Given the description of an element on the screen output the (x, y) to click on. 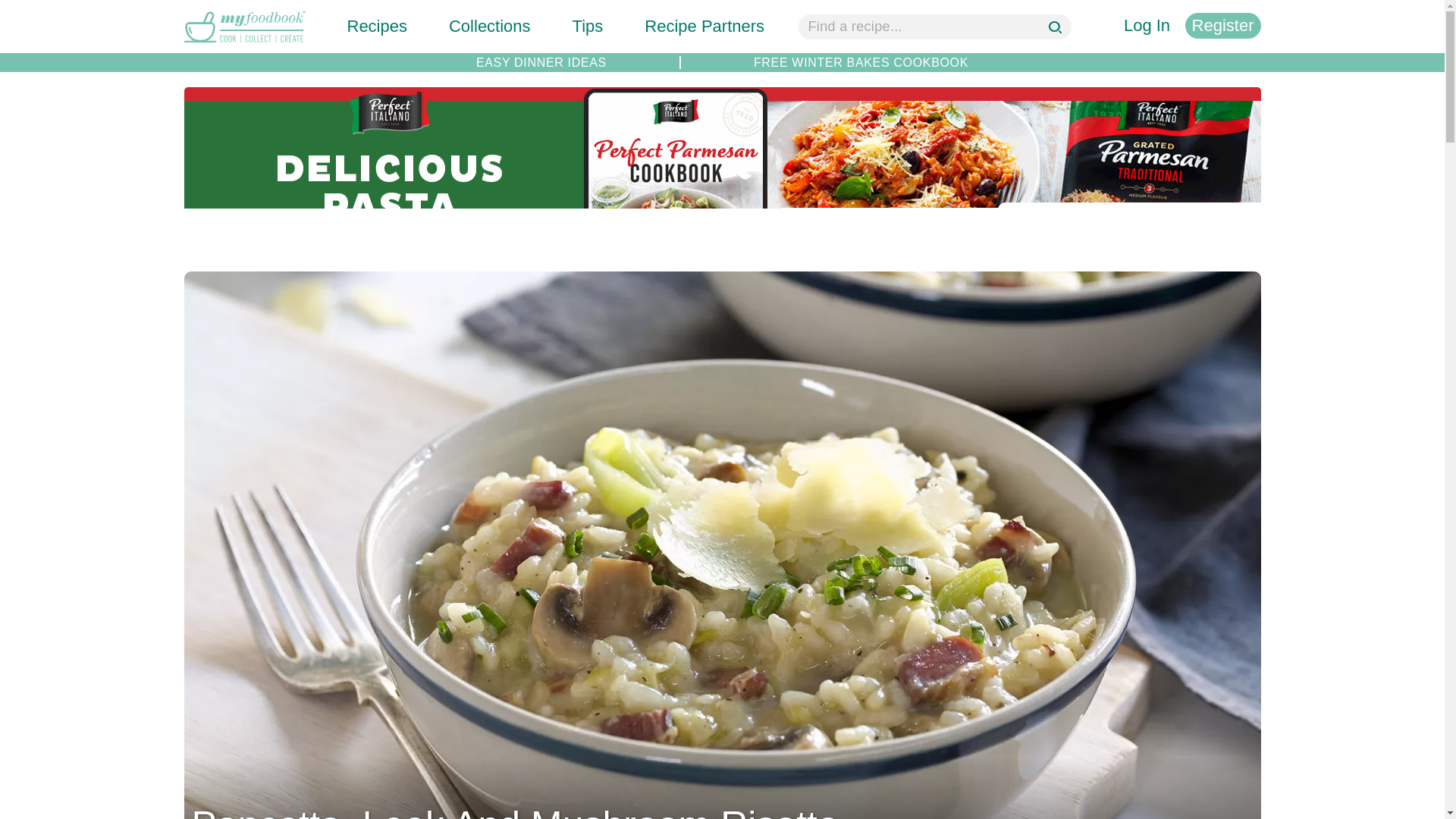
FREE WINTER BAKES COOKBOOK (861, 62)
Winter Bake Recipes Cookbook (861, 62)
EASY DINNER IDEAS (541, 62)
Recipes (377, 26)
myfoodbook home (243, 43)
go (1056, 28)
Register (1222, 25)
Perfect Italiano Parmesan Cheese Cookbook (721, 238)
Dinner Recipes (541, 62)
